Given the description of an element on the screen output the (x, y) to click on. 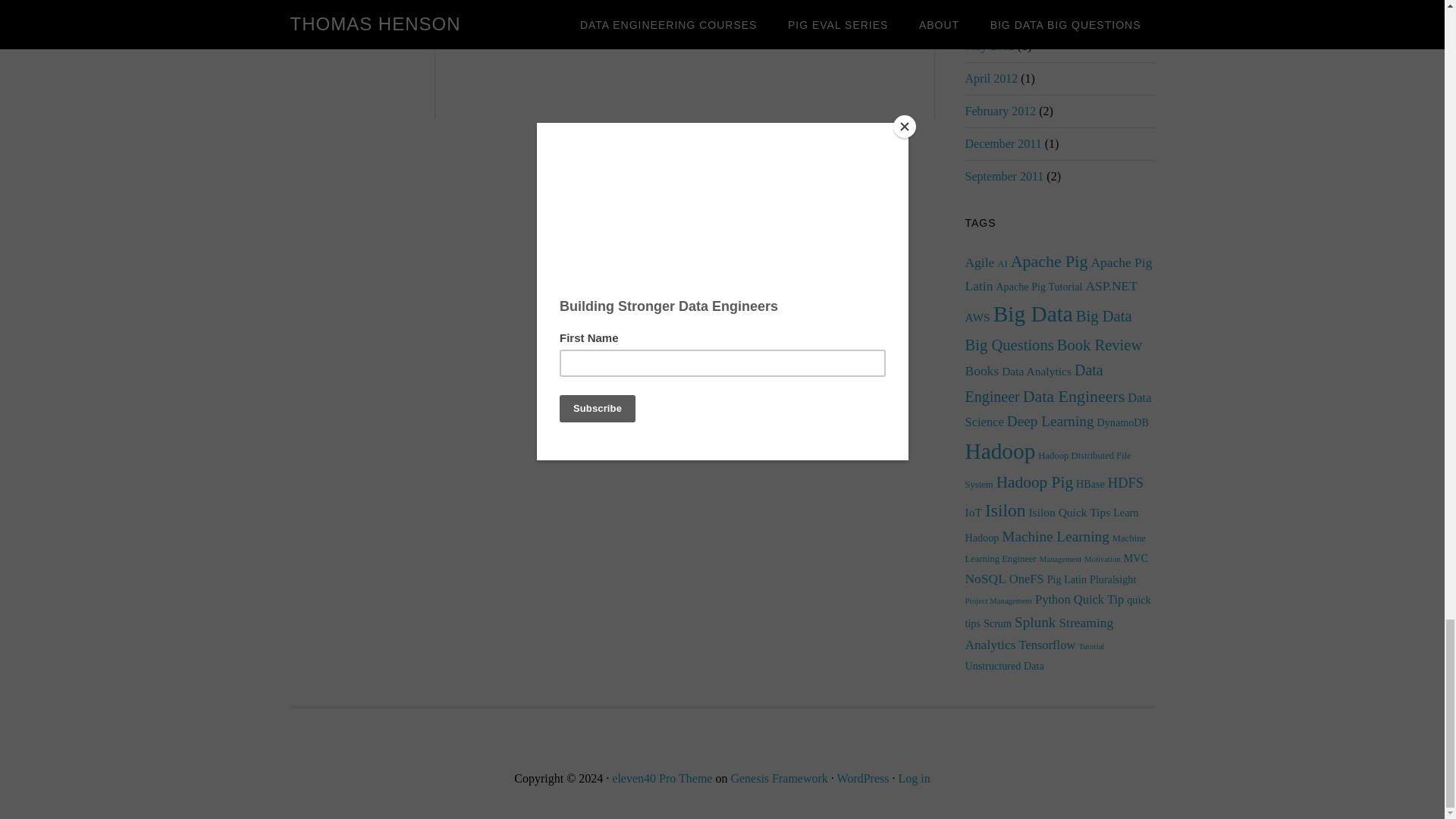
Ambari (551, 21)
Ambari (547, 4)
Hadoop (595, 21)
Hortonworks (815, 21)
Hadoop Distributed File System (699, 21)
Learn Hadoop (673, 31)
